Given the description of an element on the screen output the (x, y) to click on. 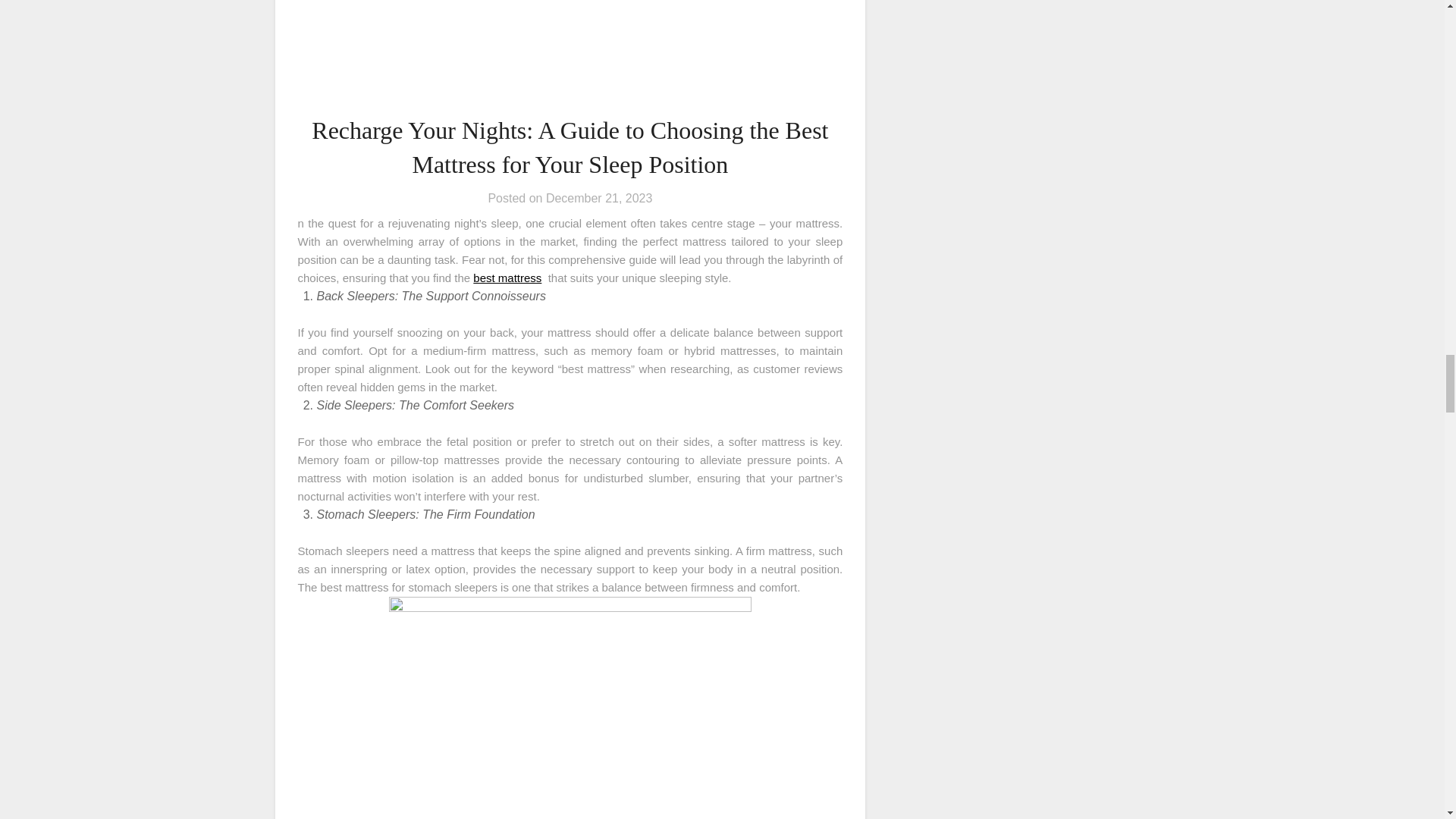
best mattress (507, 277)
December 21, 2023 (599, 197)
